Given the description of an element on the screen output the (x, y) to click on. 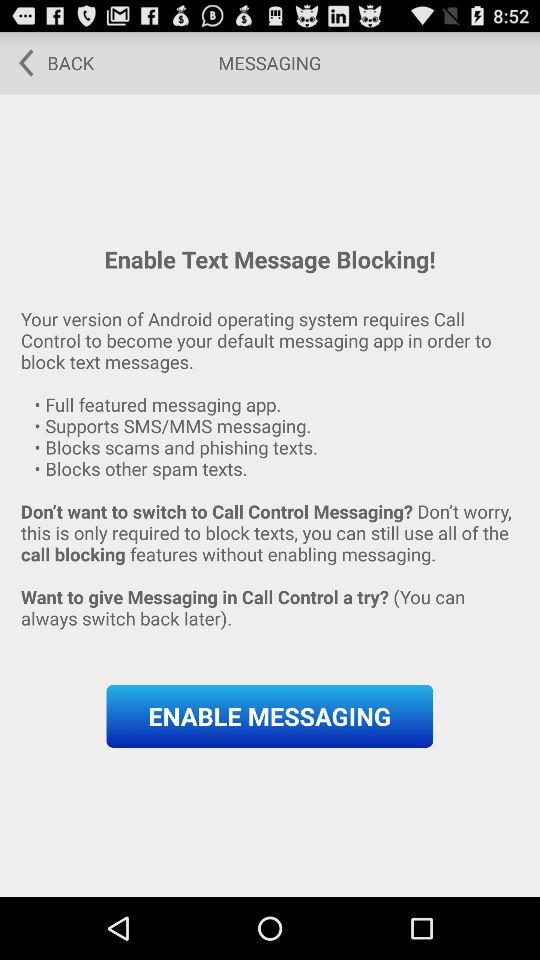
launch button at the bottom (269, 715)
